Given the description of an element on the screen output the (x, y) to click on. 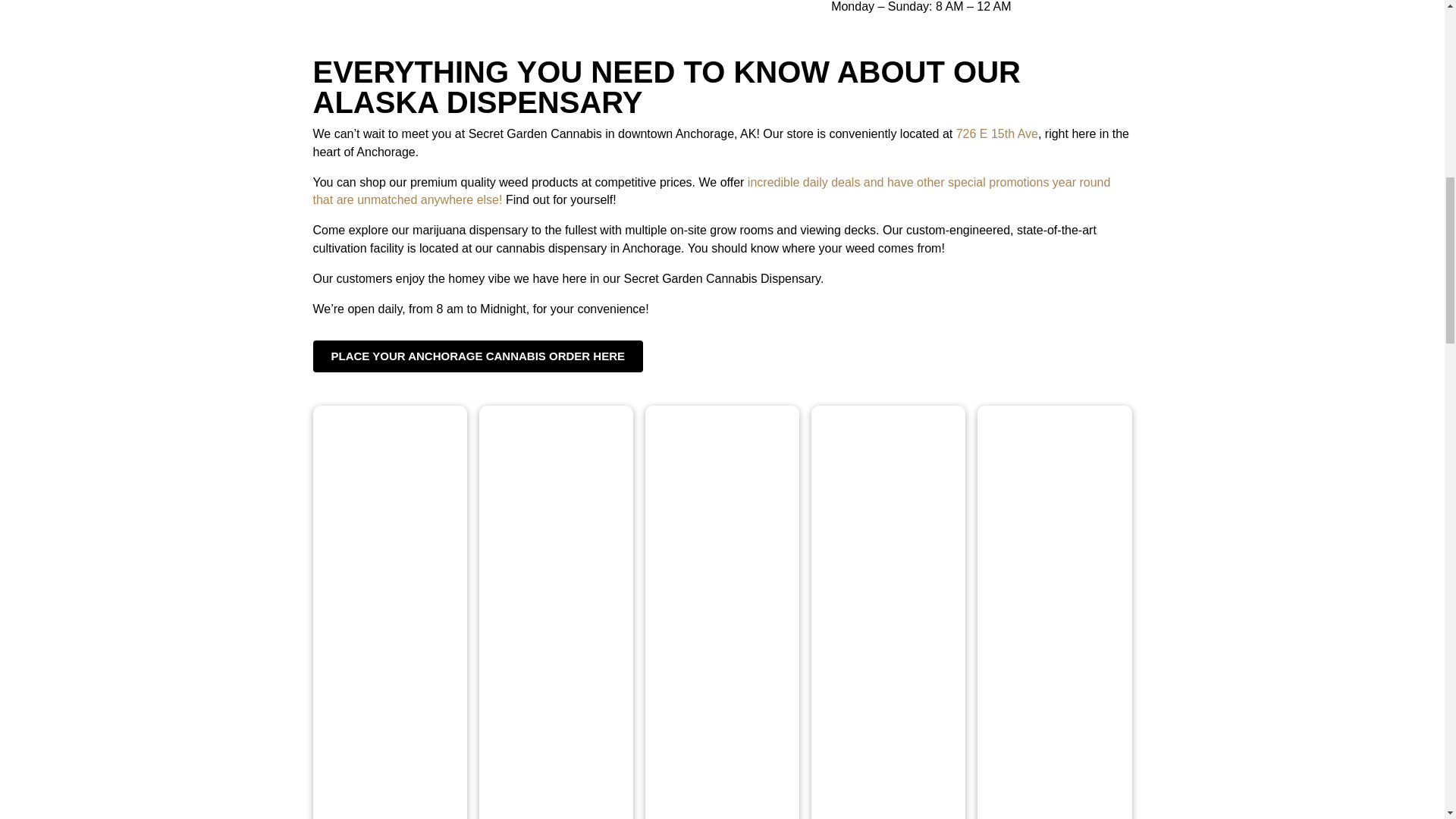
PLACE YOUR ANCHORAGE CANNABIS ORDER HERE (478, 356)
726 E 15th Ave (997, 133)
